Given the description of an element on the screen output the (x, y) to click on. 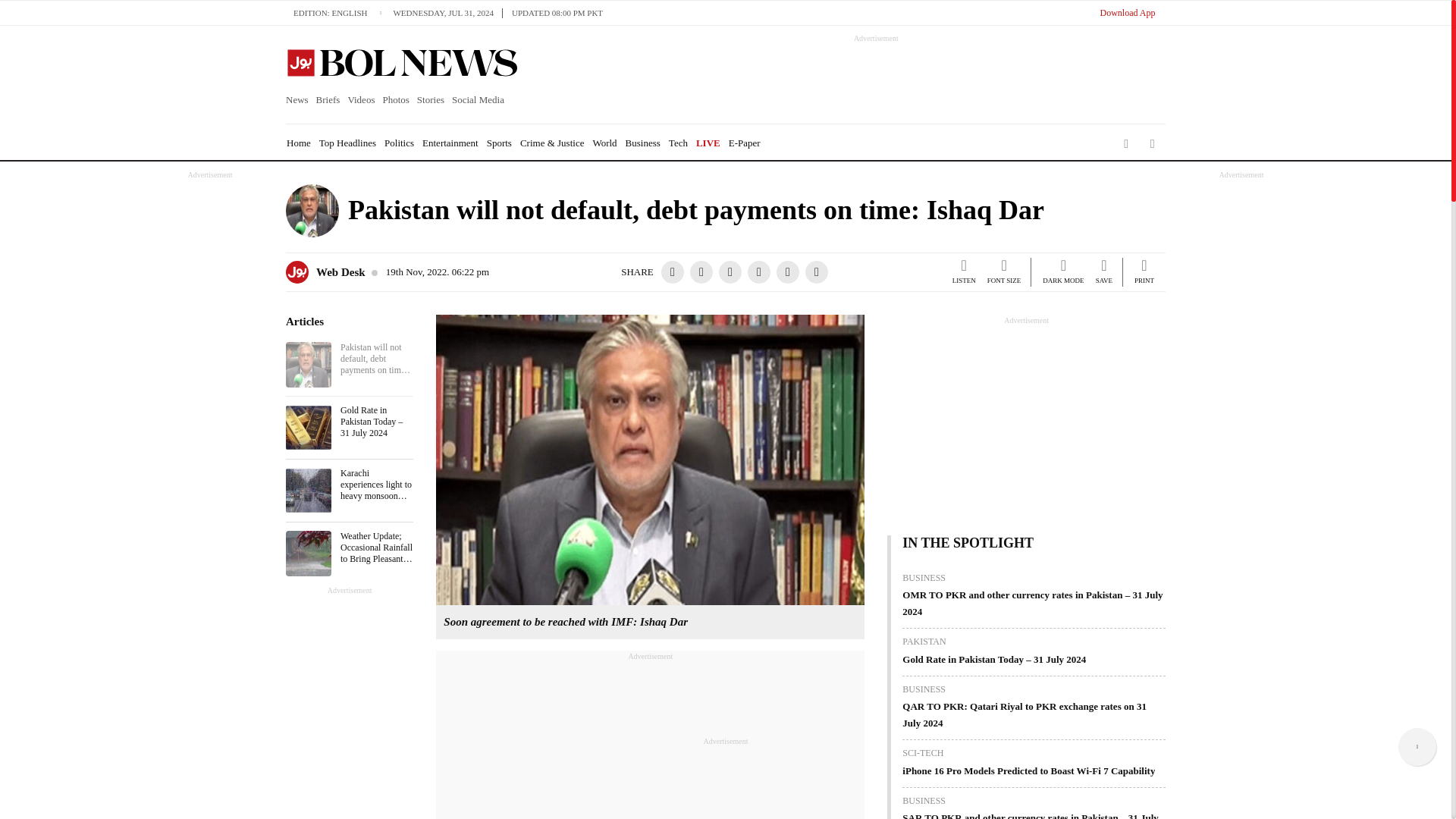
Photos (395, 99)
Business (643, 143)
Download App (1127, 12)
Videos (360, 99)
News (299, 99)
Stories (430, 99)
Briefs (328, 99)
Entertainment (450, 143)
WEDNESDAY, JUL 31, 2024 (447, 12)
UPDATED 08:00 PM PKT (556, 12)
Social Media (478, 99)
Top Headlines (346, 143)
